Given the description of an element on the screen output the (x, y) to click on. 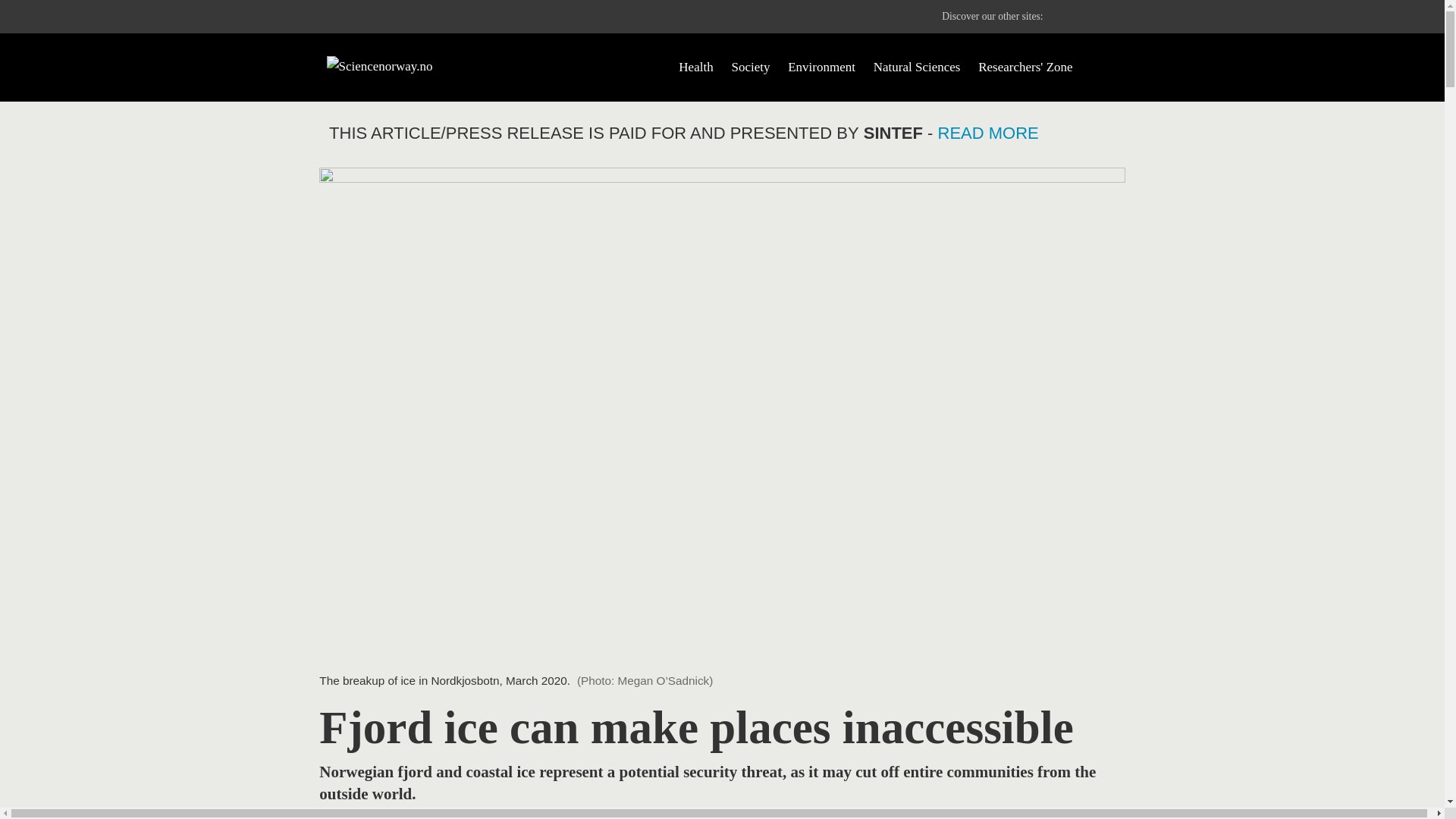
READ MORE (988, 132)
Society (750, 66)
Health (695, 66)
Natural Sciences (916, 66)
Environment (821, 66)
Researchers' Zone (1024, 66)
